Given the description of an element on the screen output the (x, y) to click on. 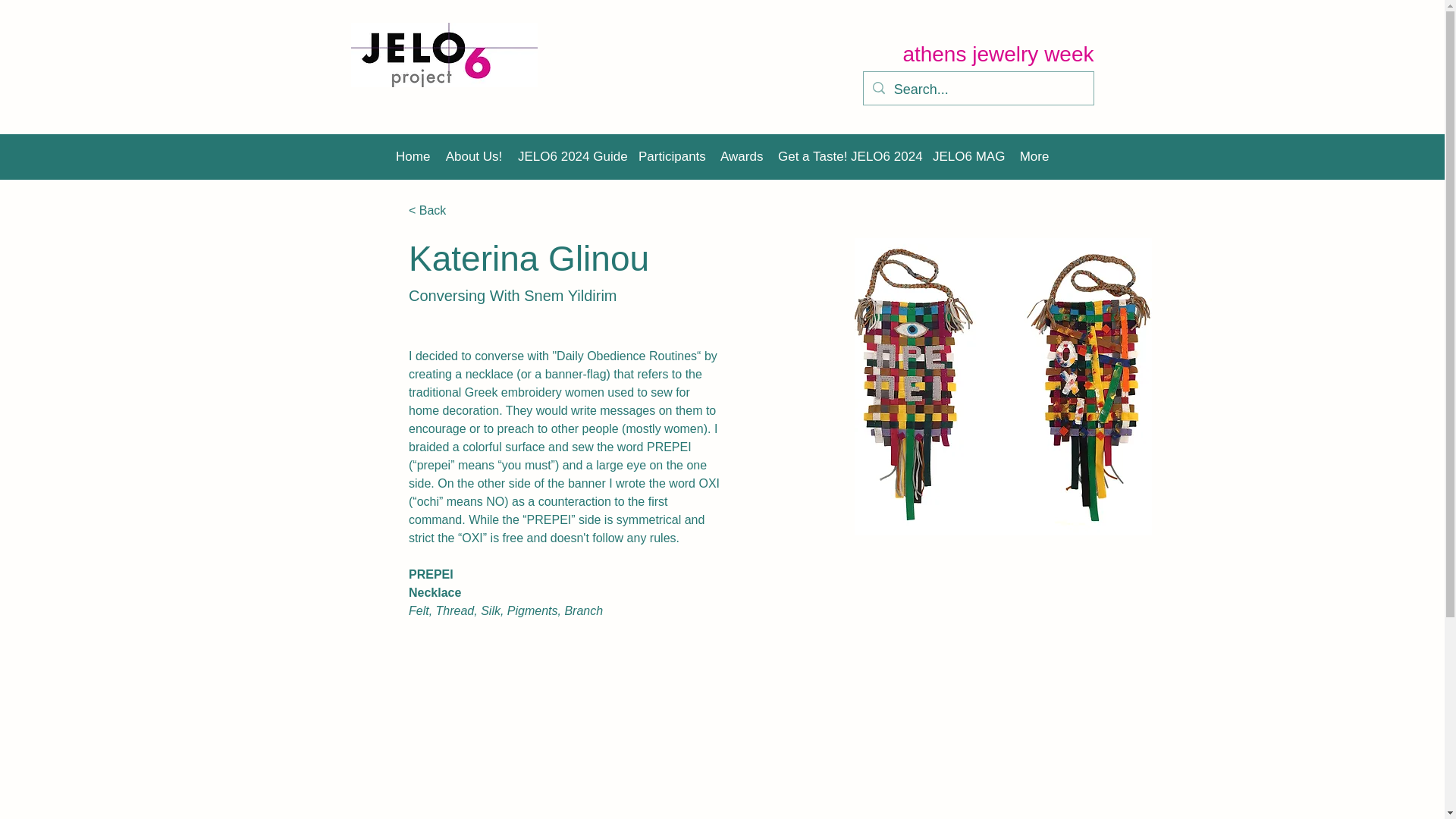
Home (413, 156)
Katerina Glinou.jpg (1002, 386)
About Us! (474, 156)
TopLogo 1.jpg (443, 54)
JELO6 2024 Guide (570, 156)
JELO6 MAG (967, 156)
Get a Taste! JELO6 2024 (847, 156)
Awards (741, 156)
Participants (671, 156)
